Given the description of an element on the screen output the (x, y) to click on. 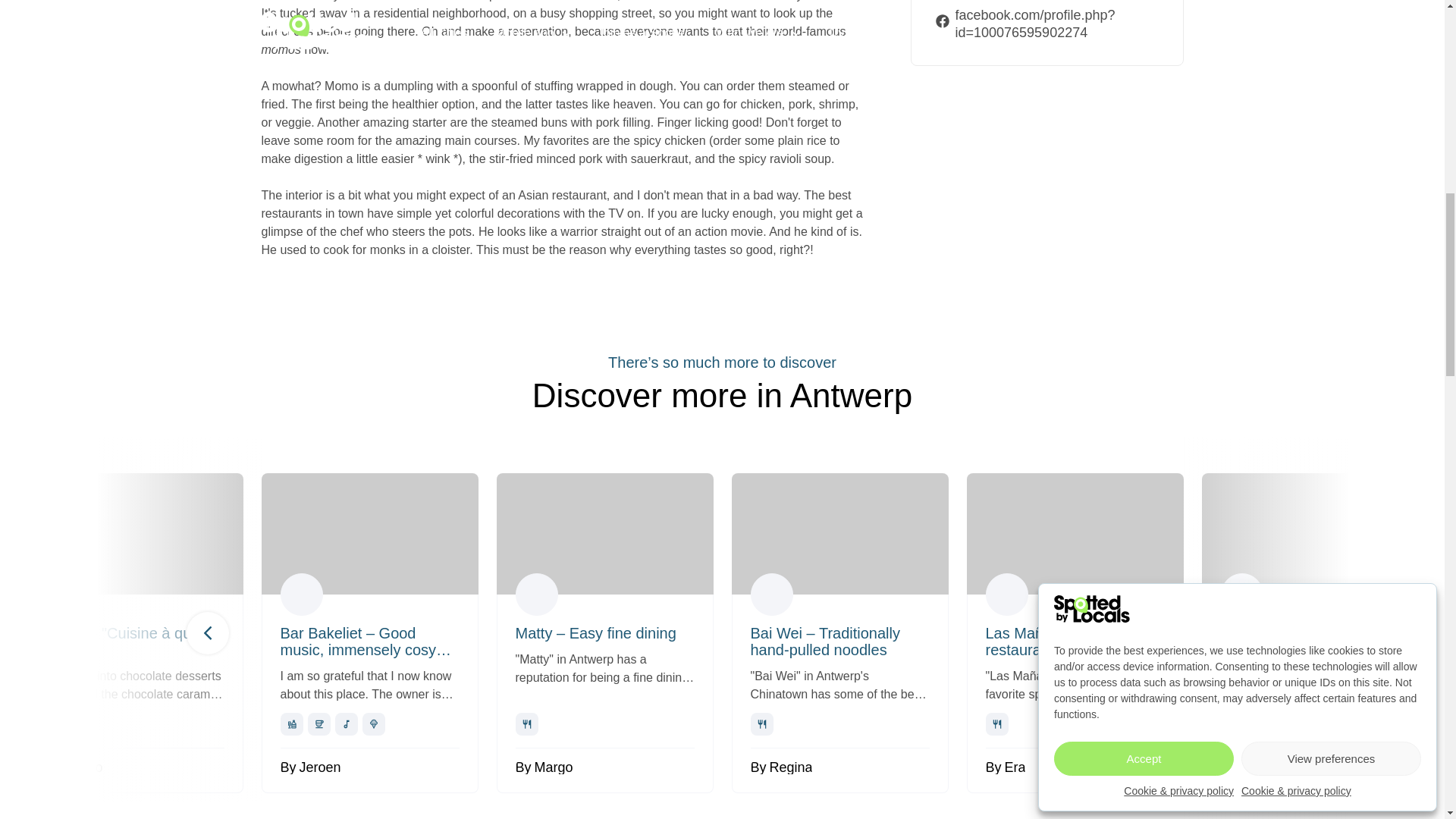
reginajanzen (1242, 594)
reginajanzen (772, 594)
margovanraemdonck (536, 594)
erahajdari (1006, 594)
margovanraemdonck (66, 594)
